Given the description of an element on the screen output the (x, y) to click on. 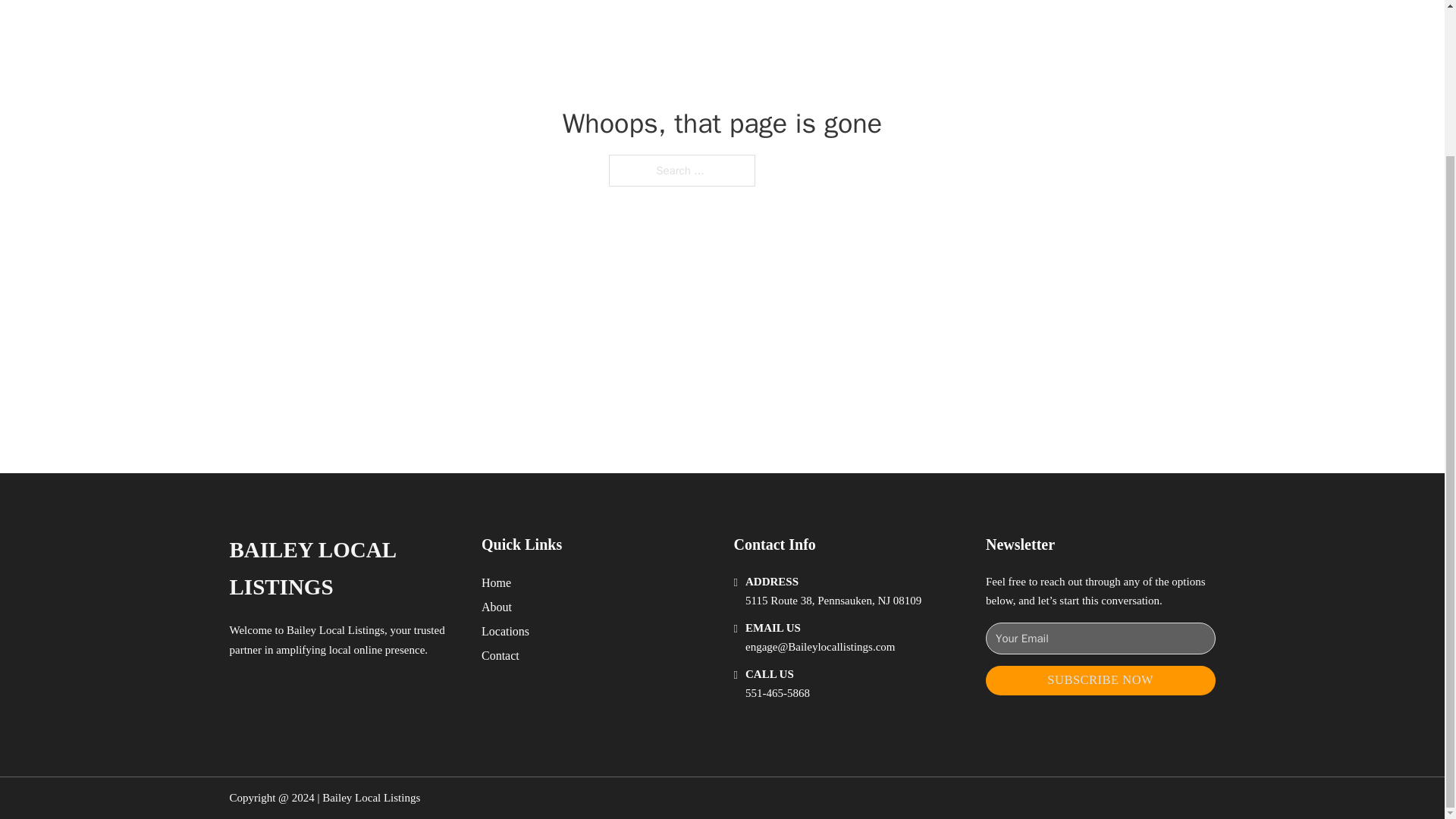
Home (496, 582)
Contact (500, 655)
SUBSCRIBE NOW (1100, 680)
About (496, 607)
BAILEY LOCAL LISTINGS (343, 568)
551-465-5868 (777, 693)
Locations (505, 630)
